Given the description of an element on the screen output the (x, y) to click on. 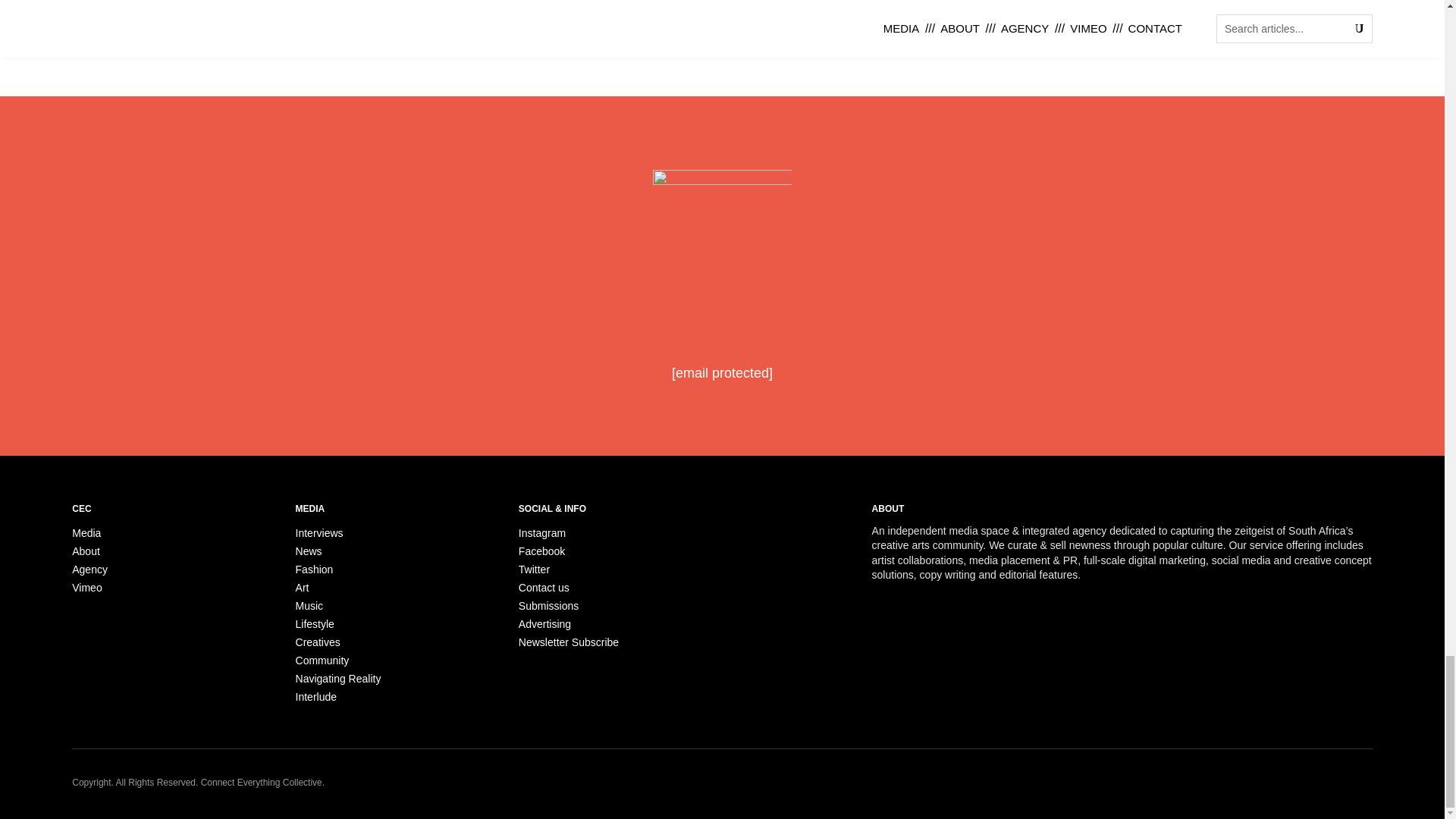
CEC (722, 249)
Twitter (534, 569)
